Given the description of an element on the screen output the (x, y) to click on. 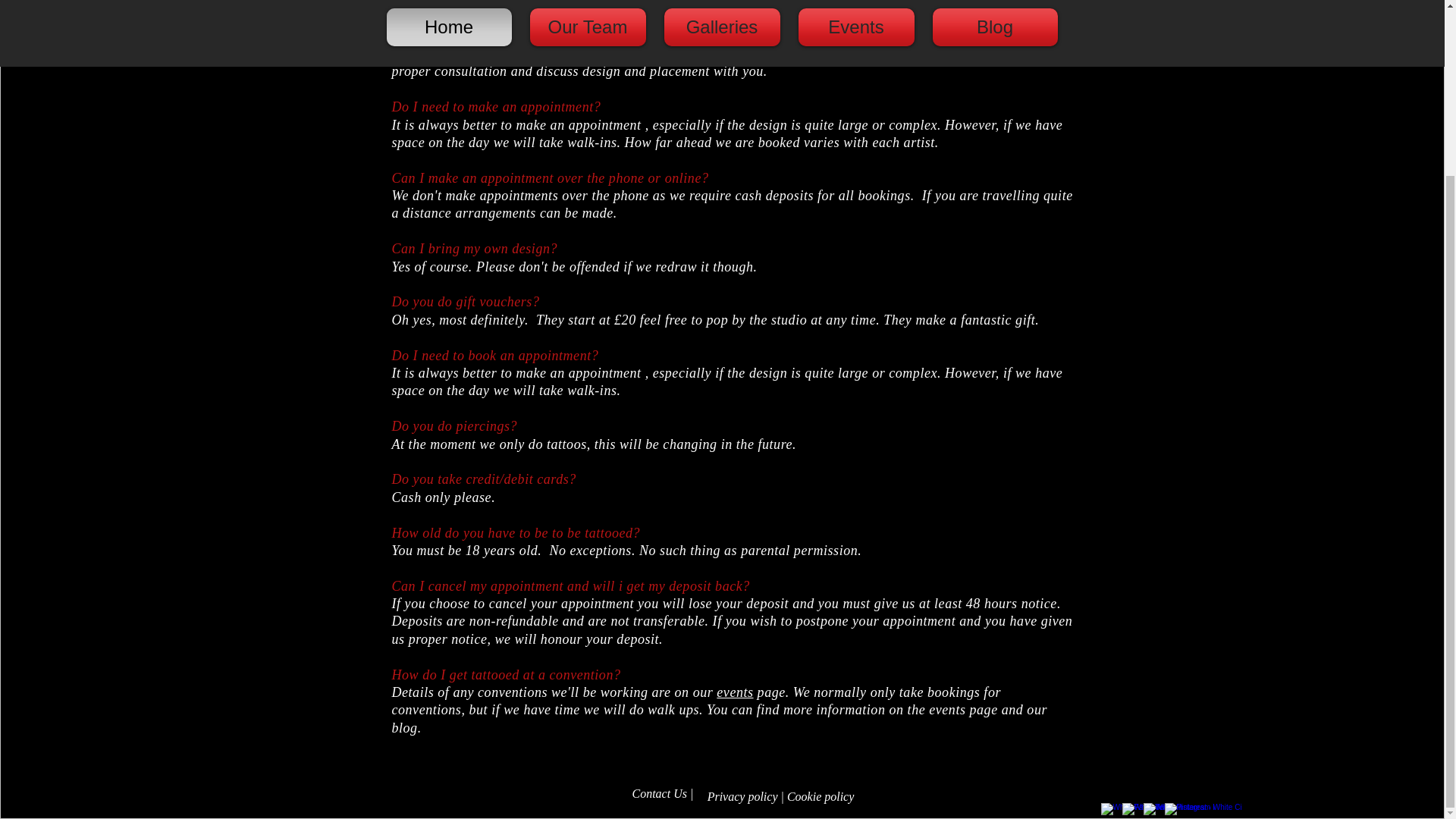
 Privacy policy (742, 796)
events (734, 692)
Cookie policy  (822, 796)
